Given the description of an element on the screen output the (x, y) to click on. 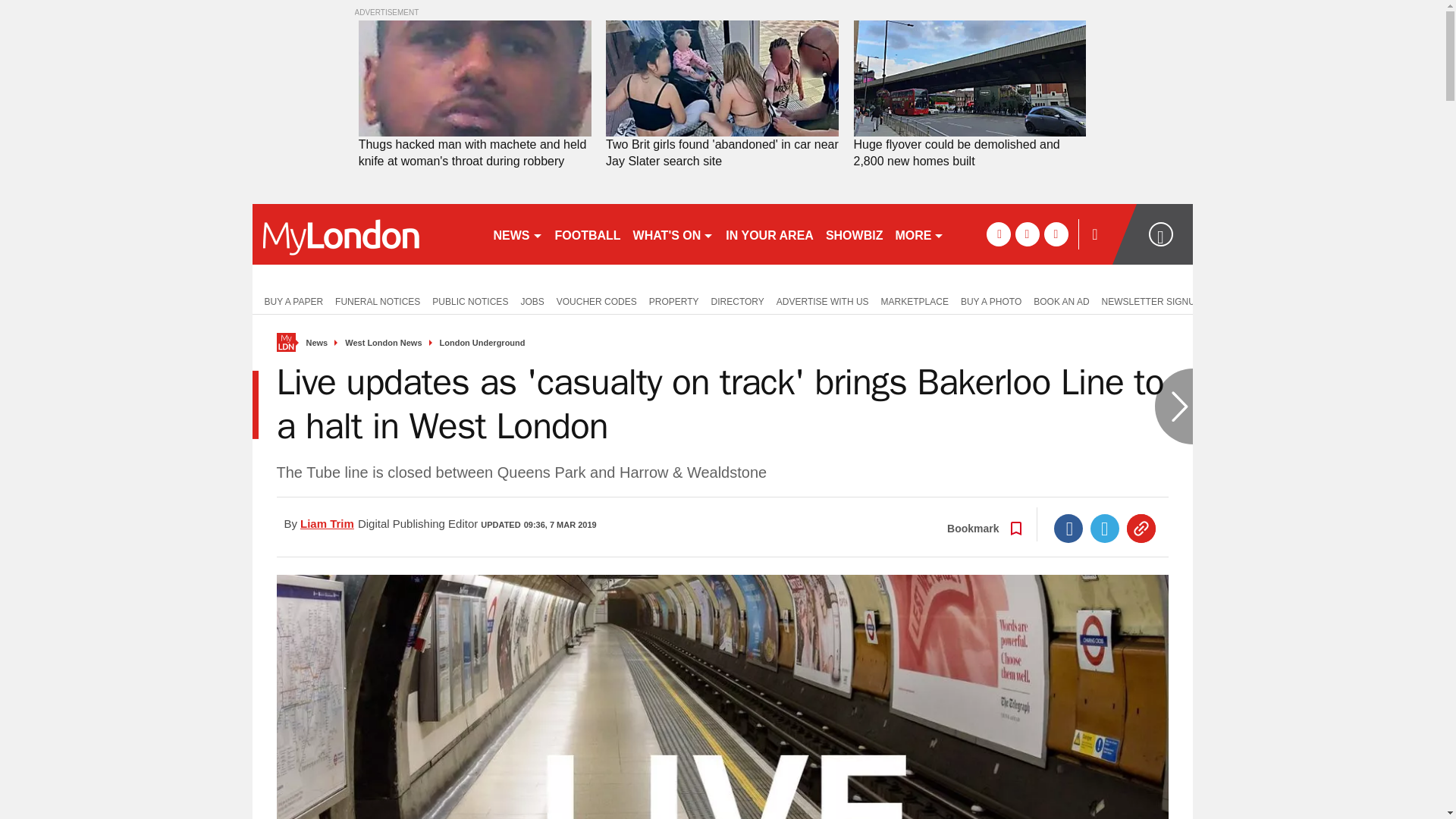
Facebook (1068, 528)
Huge flyover could be demolished and 2,800 new homes built (969, 152)
WHAT'S ON (673, 233)
Huge flyover could be demolished and 2,800 new homes built (969, 152)
FOOTBALL (587, 233)
NEWS (517, 233)
facebook (997, 233)
Twitter (1104, 528)
twitter (1026, 233)
instagram (1055, 233)
getwestlondon (365, 233)
